Given the description of an element on the screen output the (x, y) to click on. 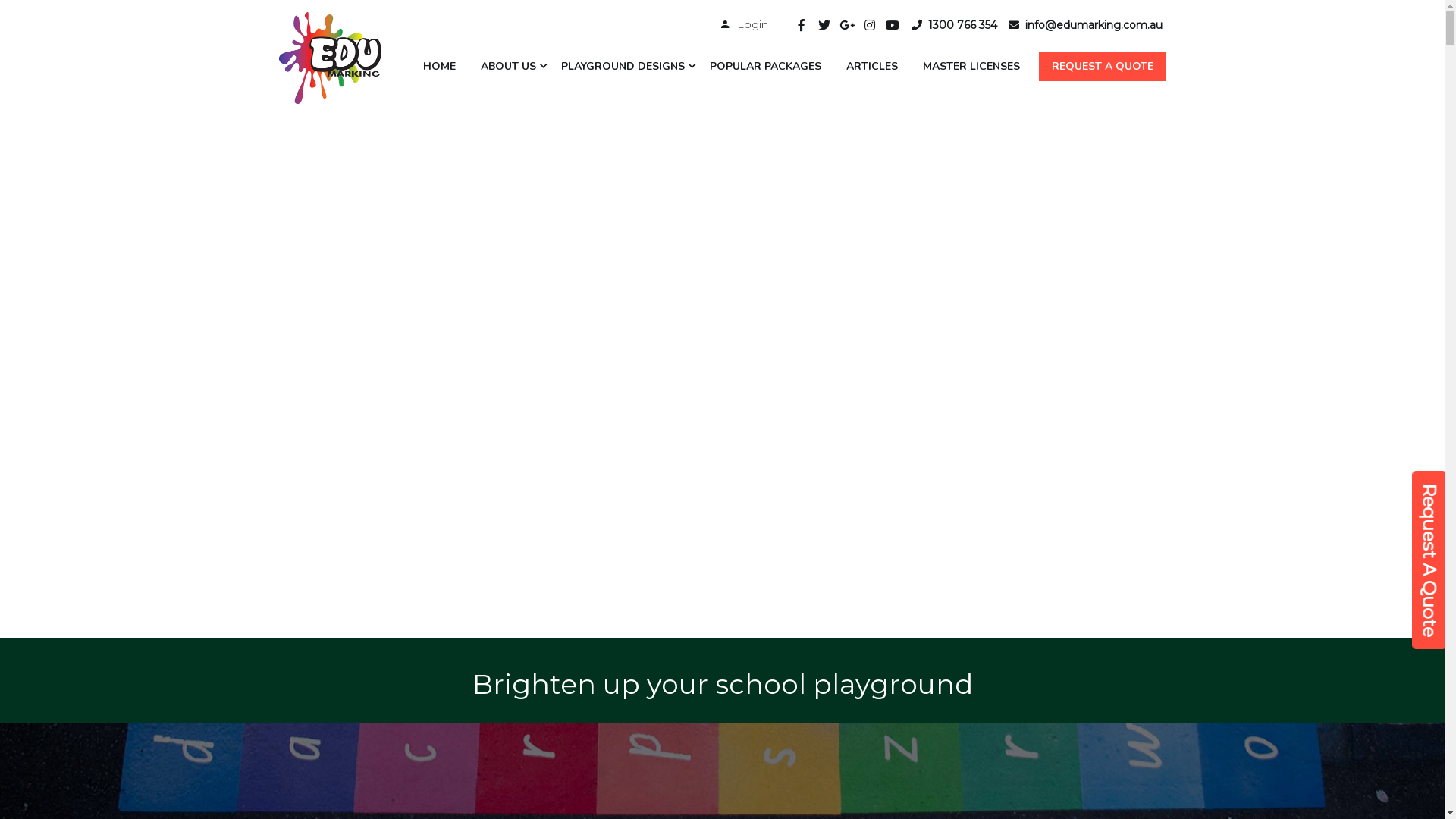
Login Element type: text (743, 23)
info@edumarking.com.au Element type: text (1084, 24)
POPULAR PACKAGES Element type: text (769, 67)
REQUEST A QUOTE Element type: text (1102, 66)
ABOUT US Element type: text (512, 67)
ARTICLES Element type: text (876, 67)
EduMarking - Brighten up your school playground Element type: hover (330, 60)
PLAYGROUND DESIGNS Element type: text (627, 67)
Login Element type: text (823, 441)
HOME Element type: text (443, 67)
1300 766 354 Element type: text (953, 24)
MASTER LICENSES Element type: text (975, 67)
